Given the description of an element on the screen output the (x, y) to click on. 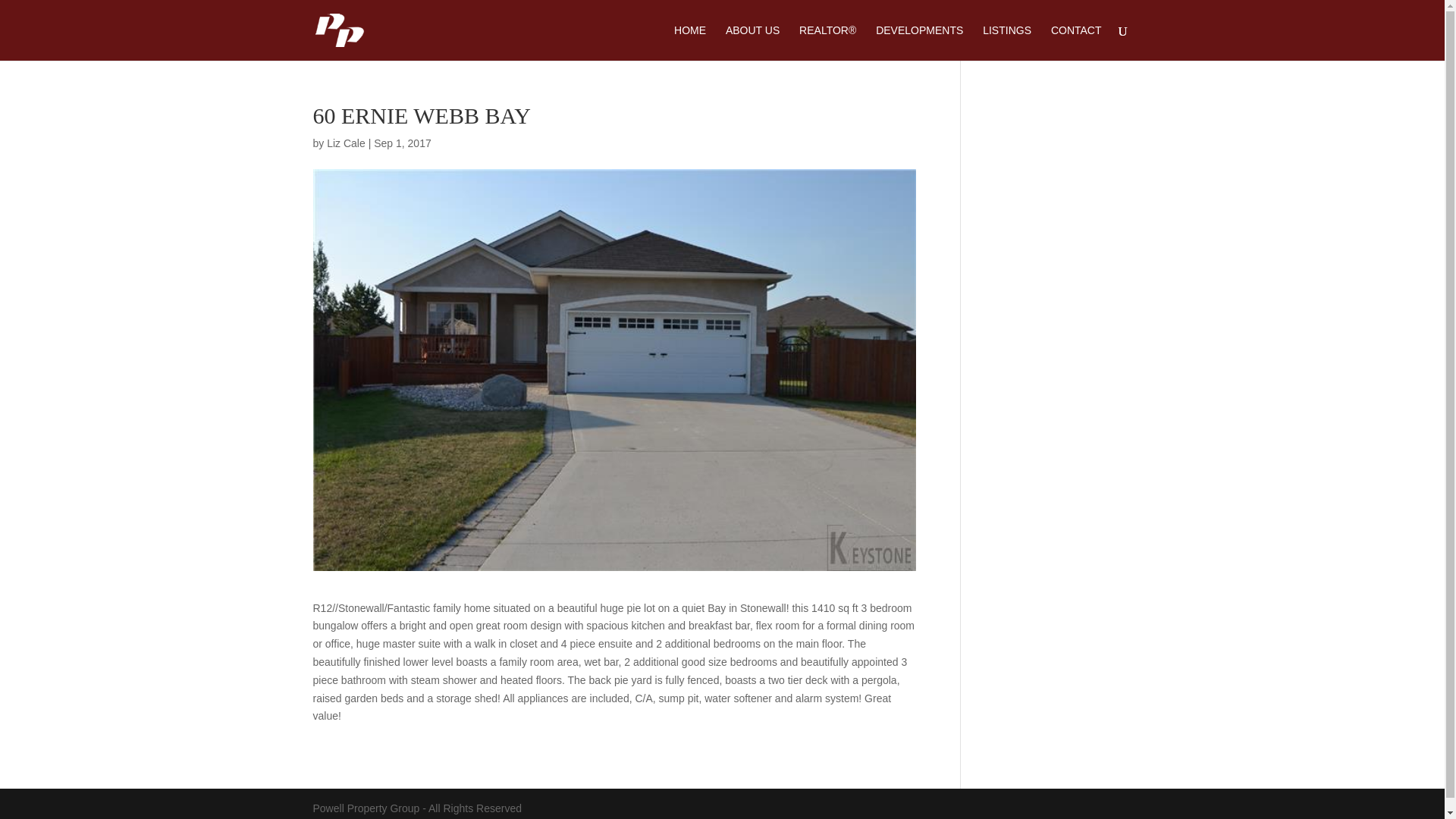
Liz Cale (345, 143)
LISTINGS (1006, 42)
DEVELOPMENTS (919, 42)
ABOUT US (751, 42)
Posts by Liz Cale (345, 143)
HOME (690, 42)
CONTACT (1076, 42)
